Given the description of an element on the screen output the (x, y) to click on. 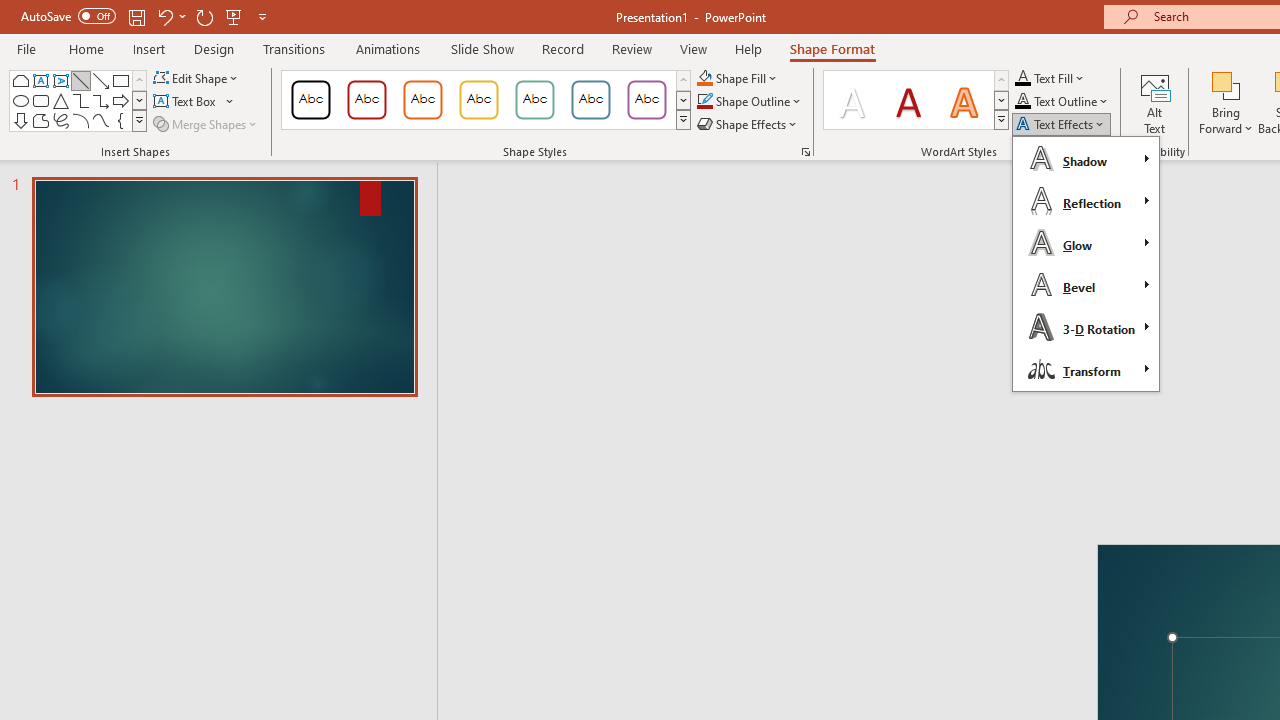
AutomationID: ShapeStylesGallery (486, 99)
Edit Shape (196, 78)
Text Outline RGB(0, 0, 0) (1023, 101)
Colored Outline - Blue-Gray, Accent 5 (591, 100)
